Given the description of an element on the screen output the (x, y) to click on. 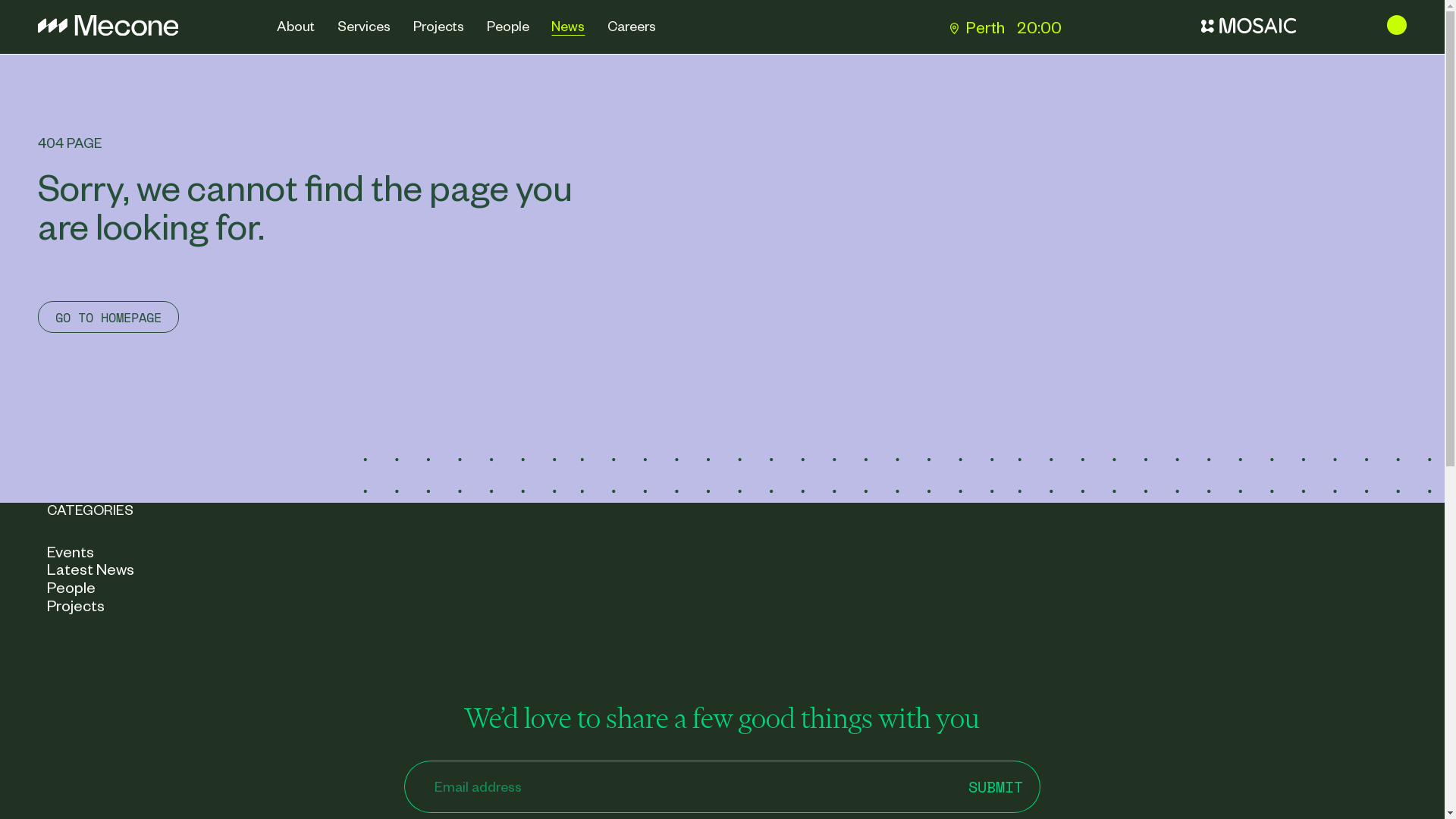
Projects Element type: text (75, 604)
News Element type: text (568, 26)
Projects Element type: text (438, 26)
Services Element type: text (363, 26)
People Element type: text (71, 586)
Careers Element type: text (631, 26)
SUBMIT Element type: text (996, 786)
Events Element type: text (70, 550)
People Element type: text (507, 26)
About Element type: text (296, 26)
GO TO HOMEPAGE Element type: text (108, 316)
Latest News Element type: text (90, 567)
